Given the description of an element on the screen output the (x, y) to click on. 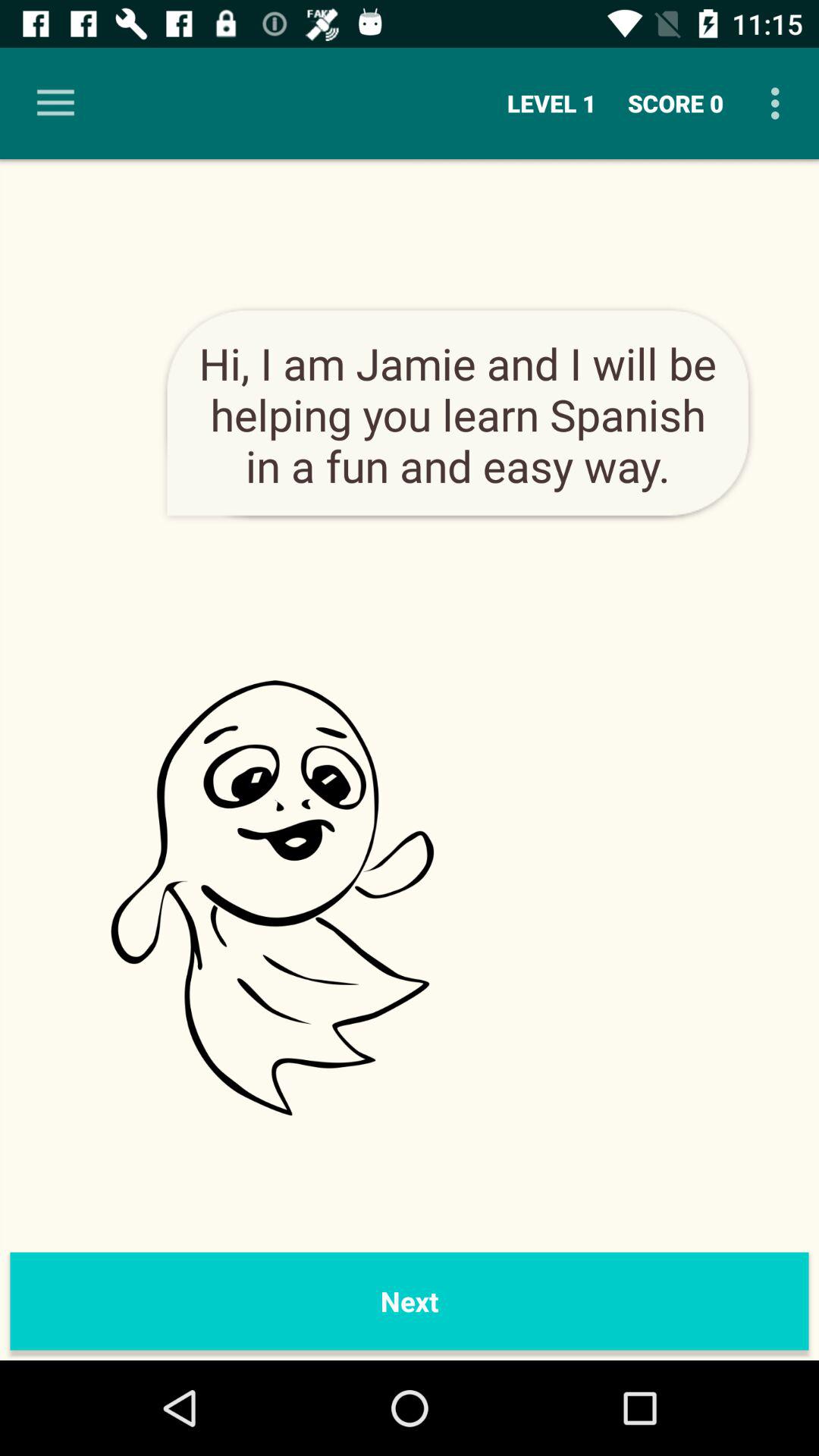
tap item to the right of the score 0 icon (779, 103)
